Given the description of an element on the screen output the (x, y) to click on. 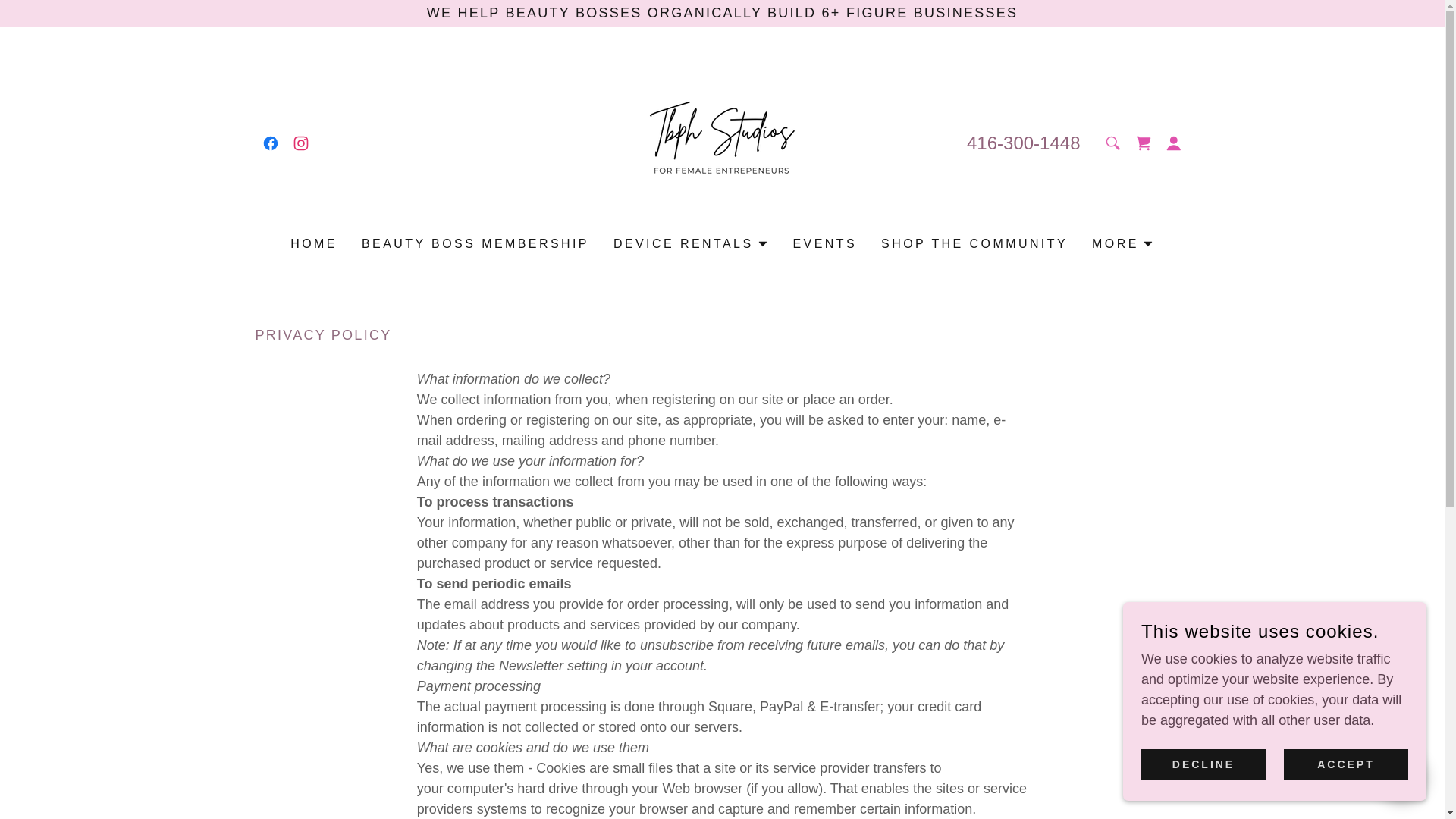
HOME (313, 243)
EVENTS (825, 243)
MORE (1123, 244)
416-300-1448 (1023, 141)
DEVICE RENTALS (690, 244)
BEAUTY BOSS MEMBERSHIP (475, 243)
SHOP THE COMMUNITY (973, 243)
